Given the description of an element on the screen output the (x, y) to click on. 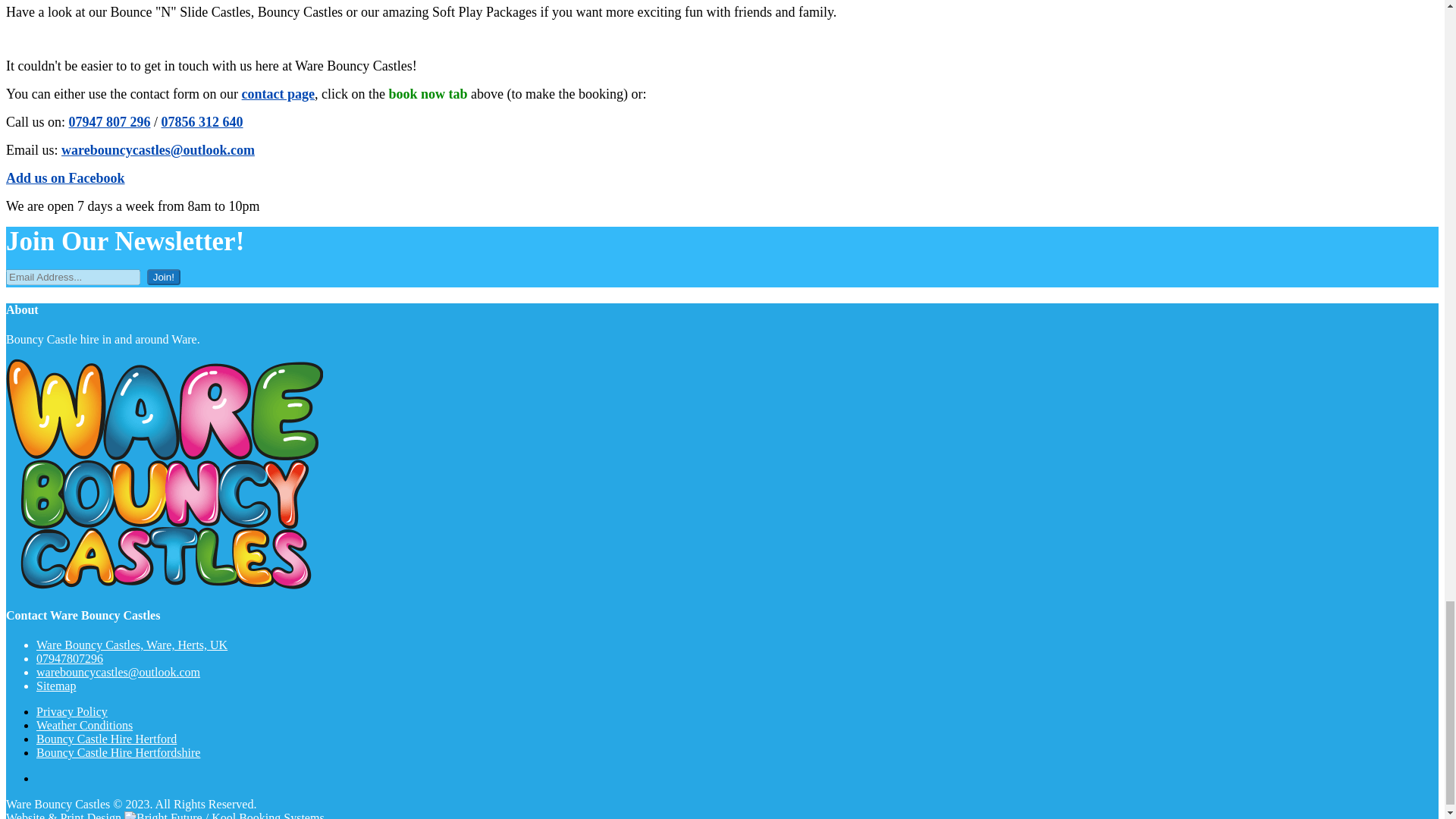
Our address (131, 644)
Send us an email! (118, 671)
Call us today! (69, 658)
Join! (163, 277)
Sitemap (55, 685)
